Given the description of an element on the screen output the (x, y) to click on. 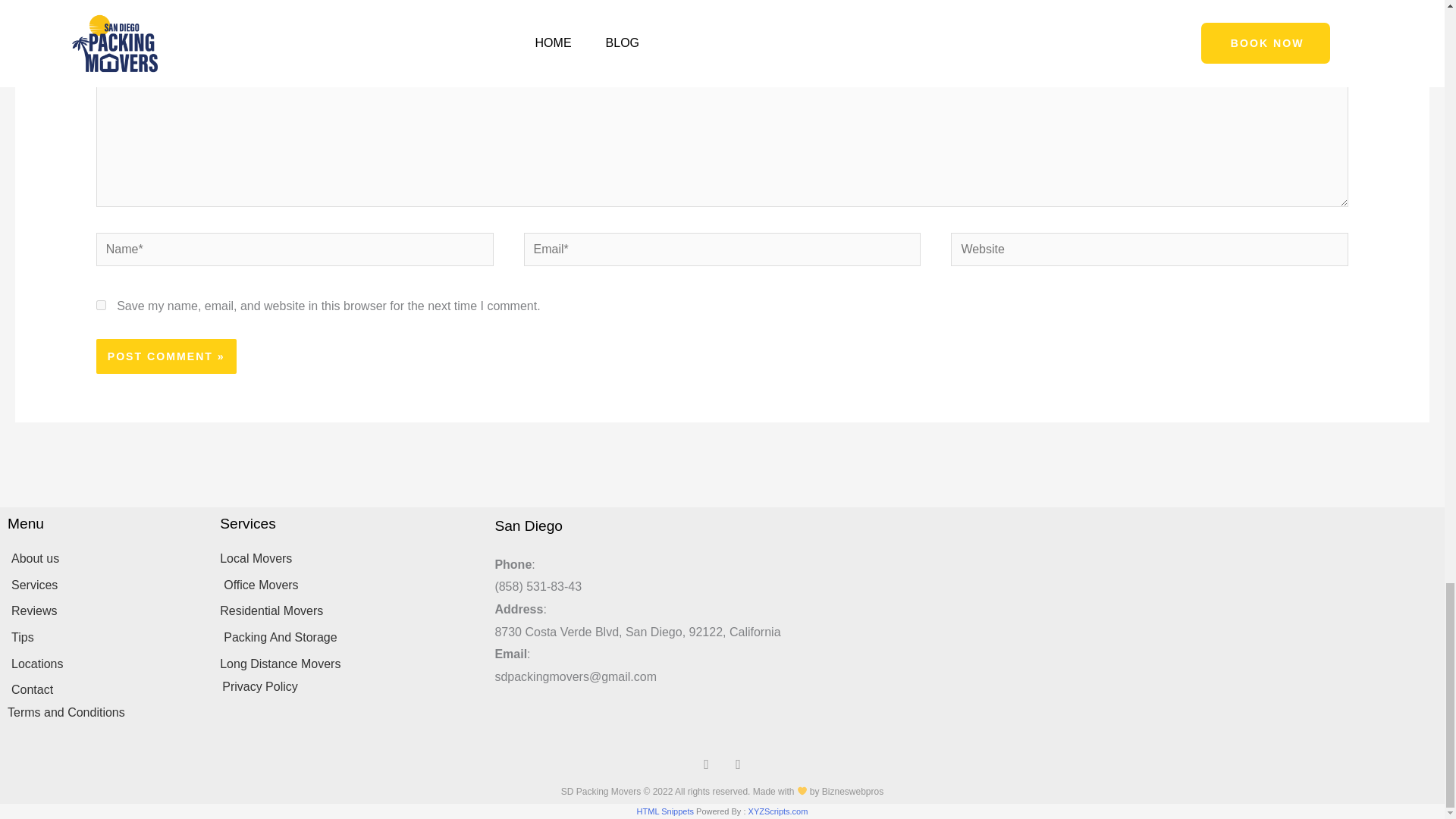
Terms and Conditions (106, 712)
Locations (106, 663)
Services (106, 585)
About us (106, 558)
yes (101, 305)
Local Movers (349, 558)
Reviews (106, 610)
Contact (106, 689)
Tips (106, 637)
